Given the description of an element on the screen output the (x, y) to click on. 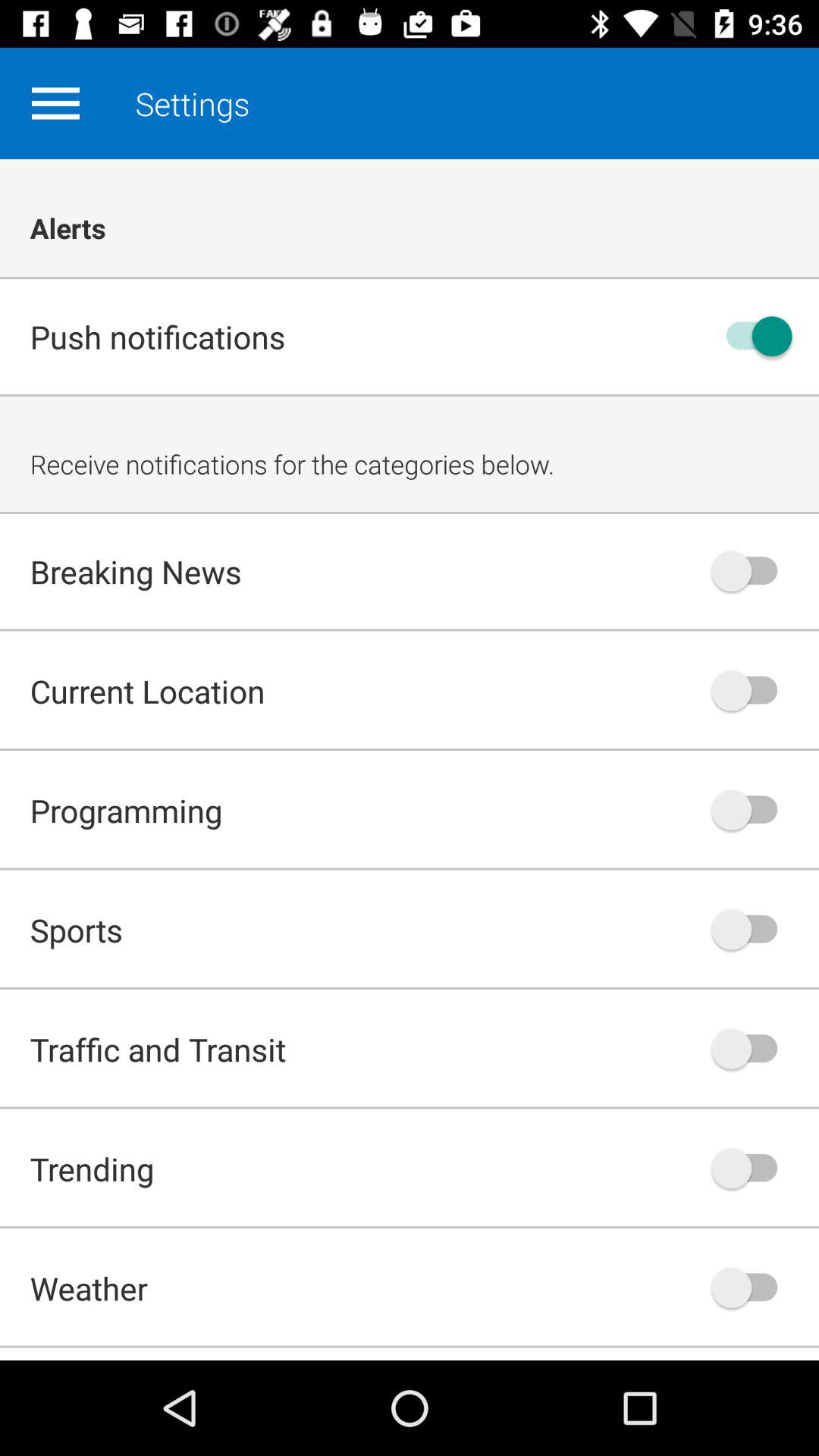
enable the option (751, 1049)
